Given the description of an element on the screen output the (x, y) to click on. 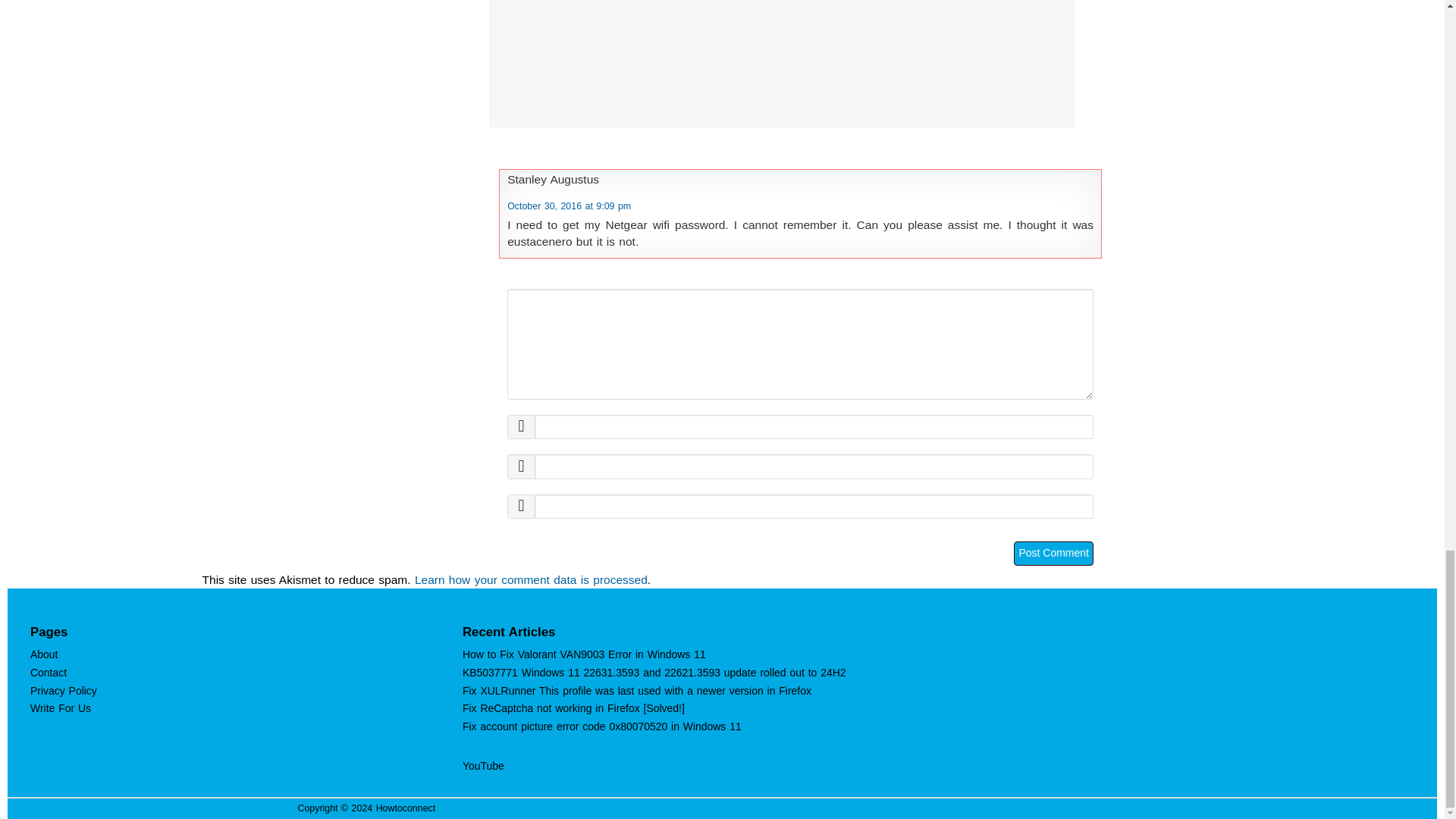
Fix account picture error code 0x80070520 in Windows 11 (602, 726)
About (44, 654)
YouTube (483, 766)
How to Fix Valorant VAN9003 Error in Windows 11 (584, 654)
October 30, 2016 at 9:09 pm (568, 205)
Write For Us (60, 707)
Post Comment (1053, 553)
Post Comment (1053, 553)
Learn how your comment data is processed (530, 579)
Contact (48, 672)
Privacy Policy (63, 690)
